Given the description of an element on the screen output the (x, y) to click on. 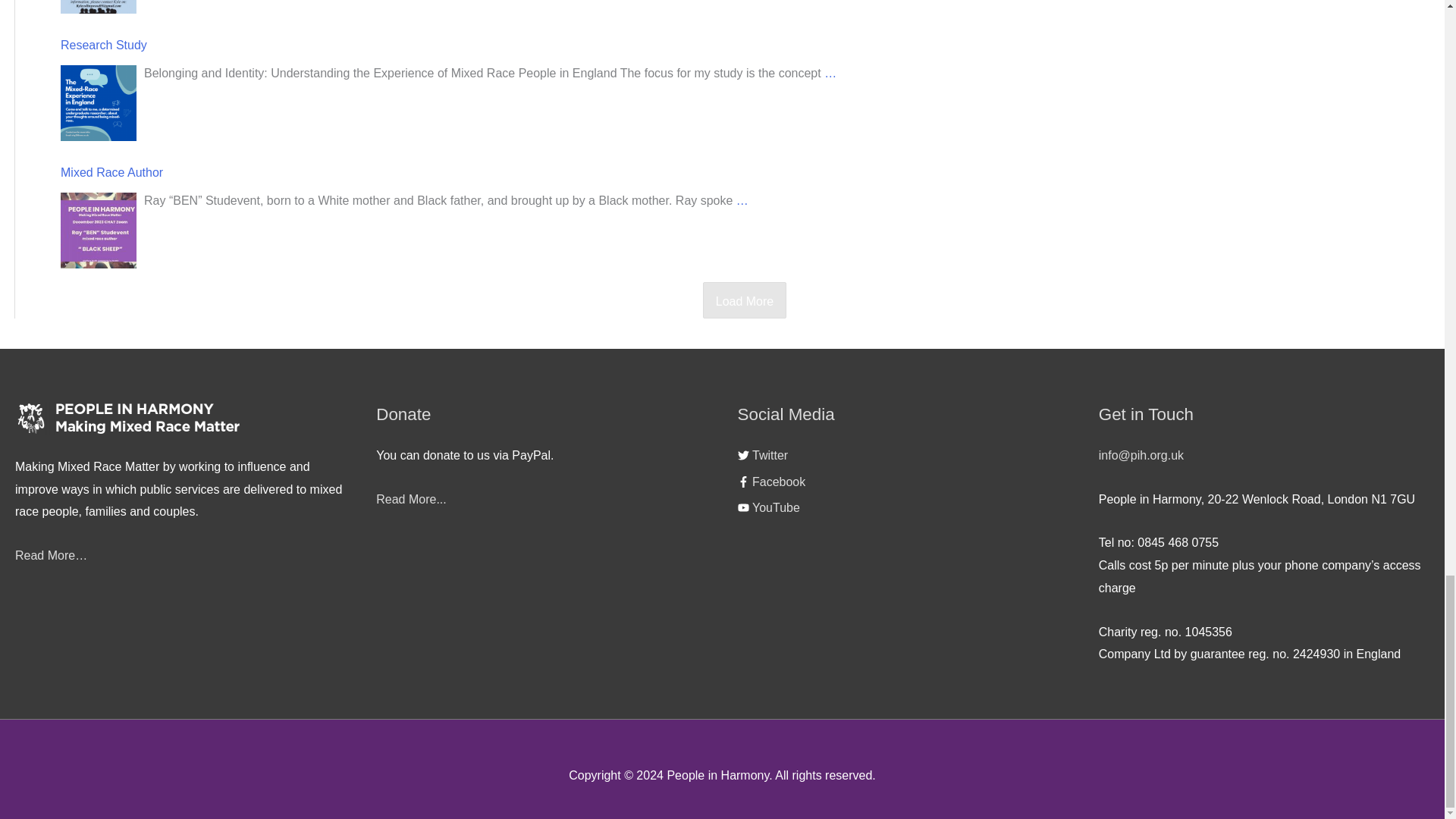
Research Study (98, 102)
Continue reading Mixed Race Author (742, 200)
Mixed Race Author (98, 230)
Continue reading Research Study (829, 73)
